Given the description of an element on the screen output the (x, y) to click on. 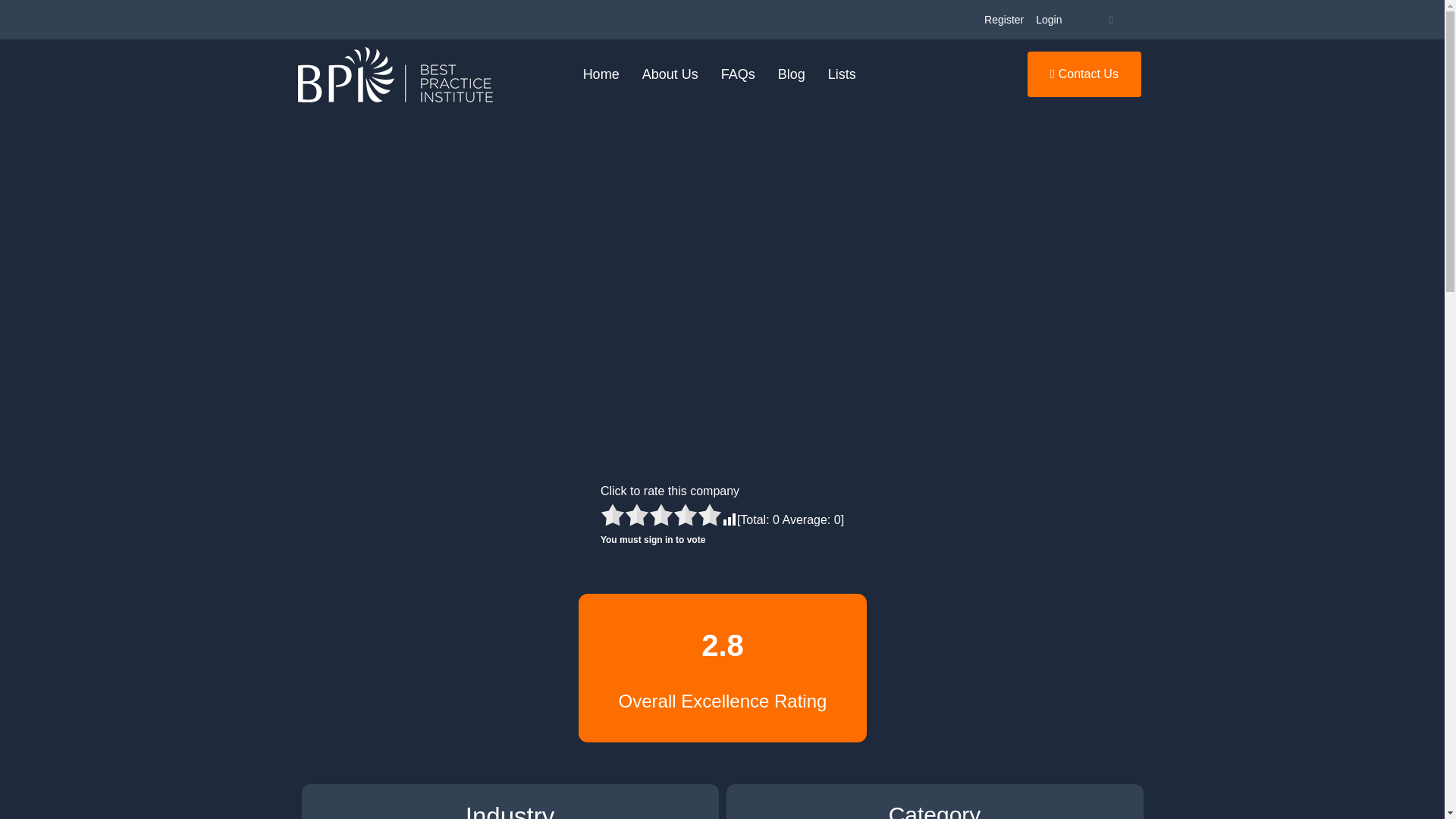
FAQs (738, 74)
Lists (841, 74)
About Us (670, 74)
Cart (1110, 19)
Home (601, 74)
Blog (791, 74)
Register (1003, 19)
Login (1048, 19)
Contact Us (1084, 74)
